Given the description of an element on the screen output the (x, y) to click on. 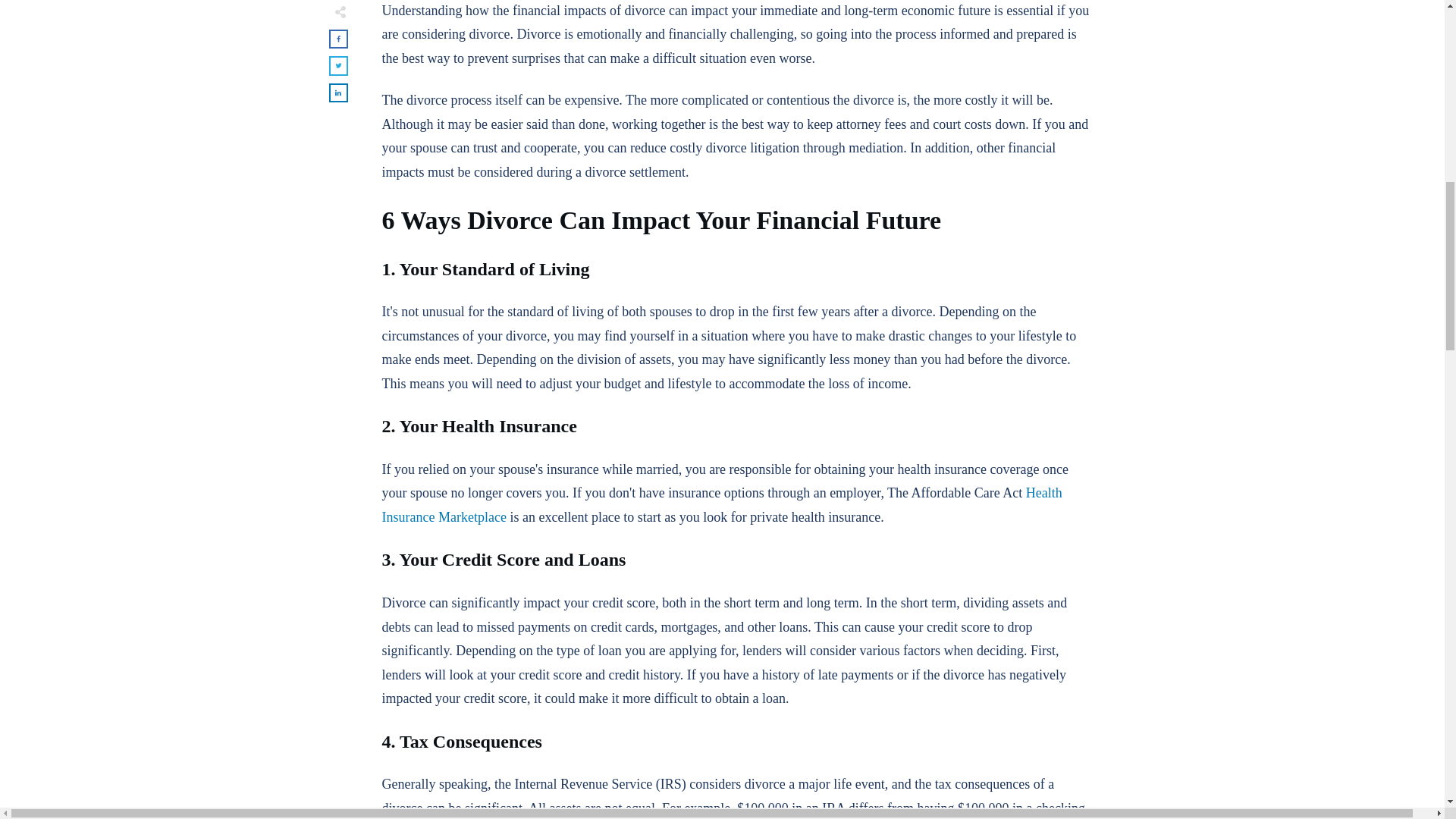
Health Insurance Marketplace (721, 504)
